Given the description of an element on the screen output the (x, y) to click on. 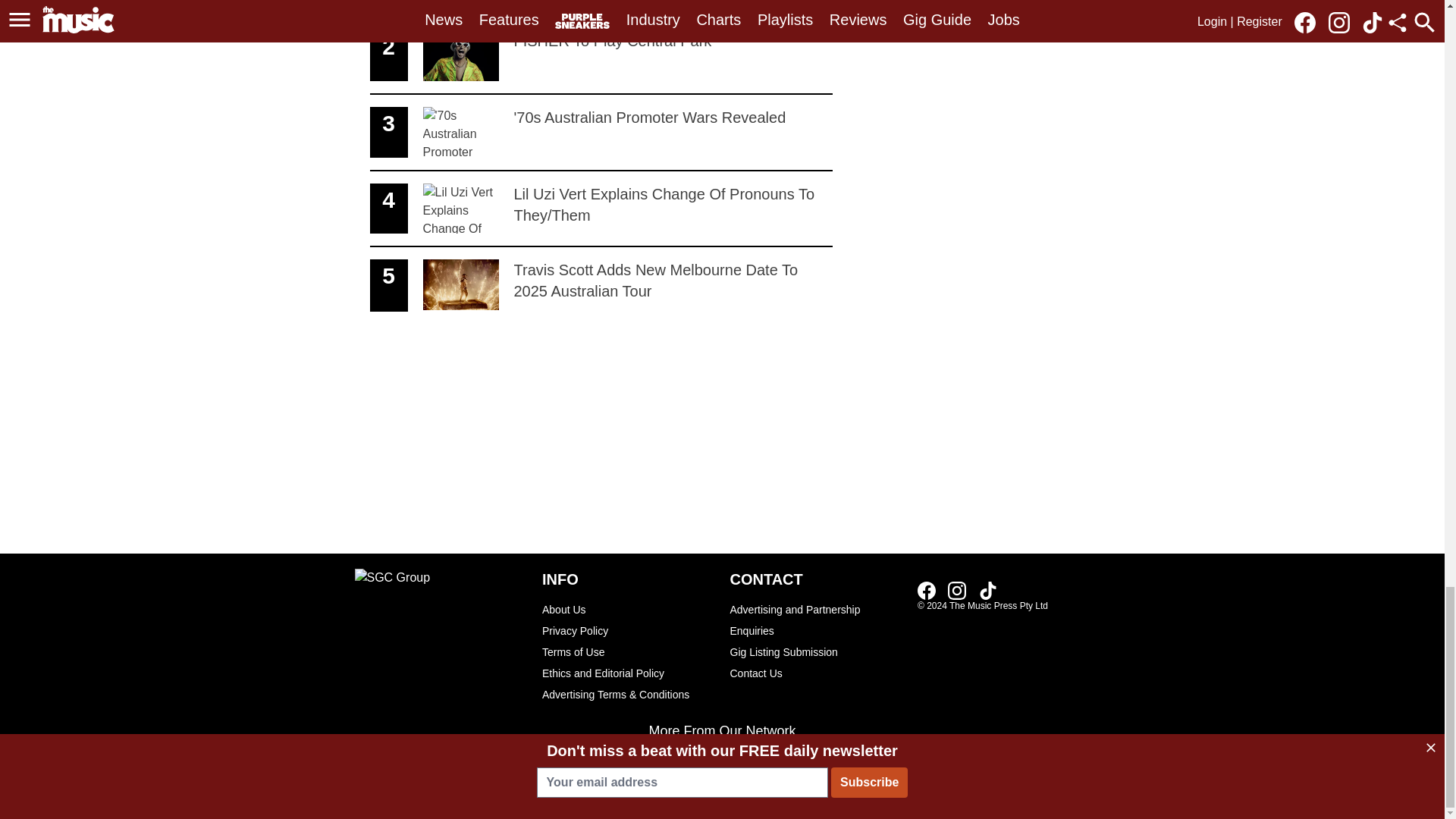
Link to our TikTok (987, 590)
Link to our Instagram (956, 590)
Privacy Policy (627, 630)
Terms of Use (600, 133)
About Us (600, 9)
FISHER To Play Central Park (627, 651)
